Given the description of an element on the screen output the (x, y) to click on. 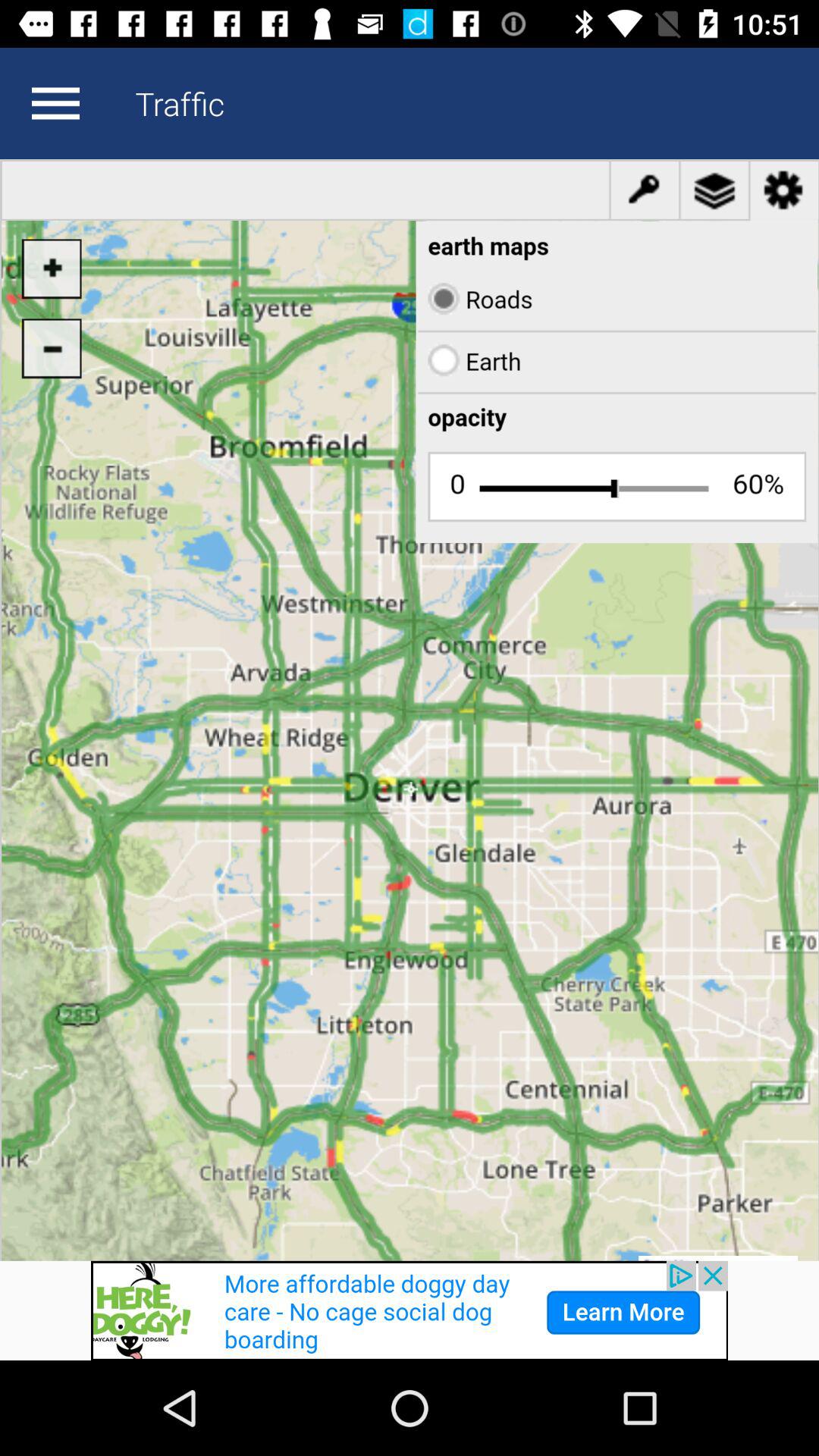
search of the option (55, 103)
